Given the description of an element on the screen output the (x, y) to click on. 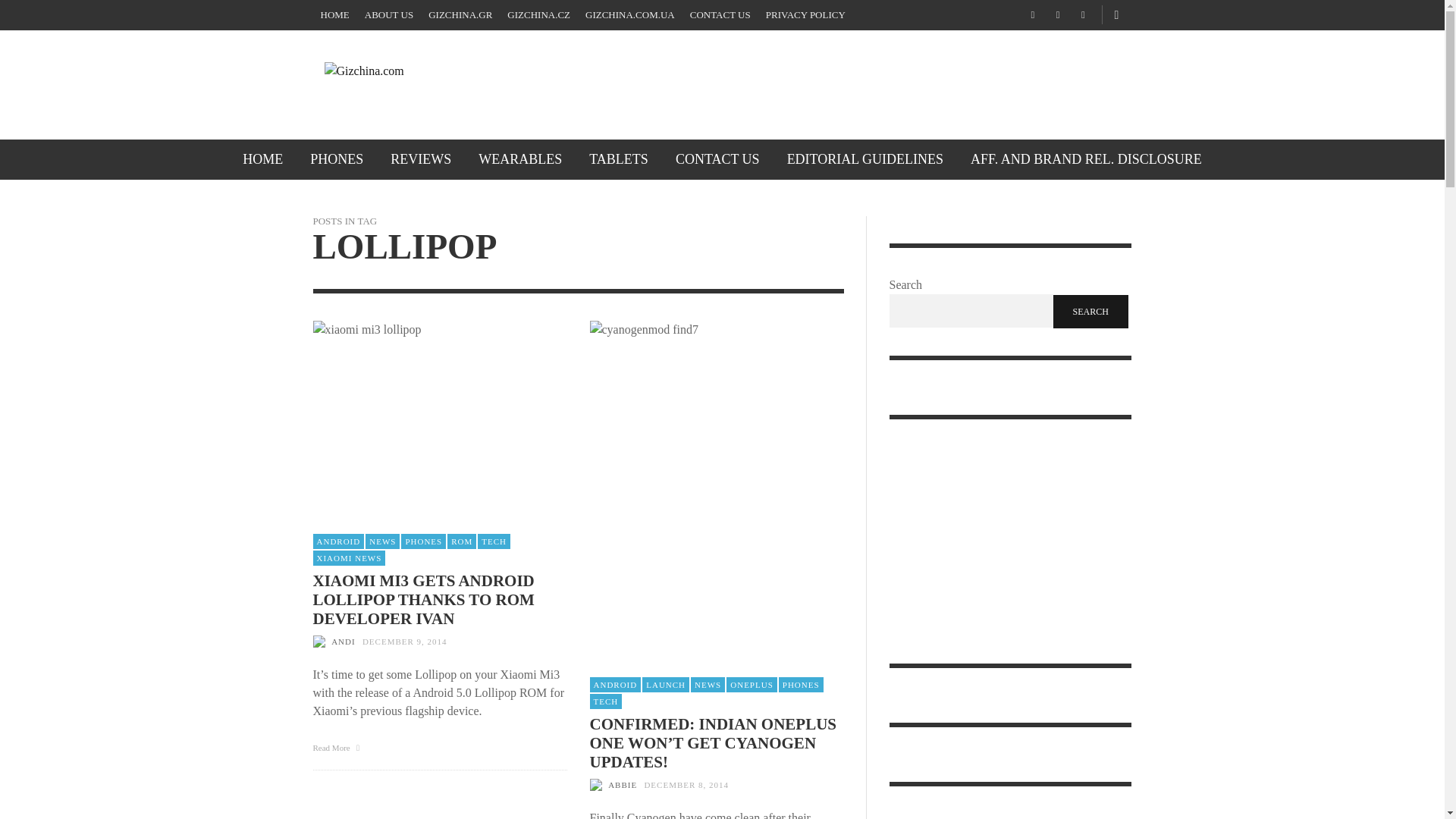
GIZCHINA.COM.UA (630, 15)
CONTACT US (720, 15)
GIZCHINA.GR (459, 15)
PRIVACY POLICY (805, 15)
PHONES (337, 159)
HOME (334, 15)
GIZCHINA.CZ (538, 15)
REVIEWS (420, 159)
ABOUT US (388, 15)
HOME (262, 159)
